Given the description of an element on the screen output the (x, y) to click on. 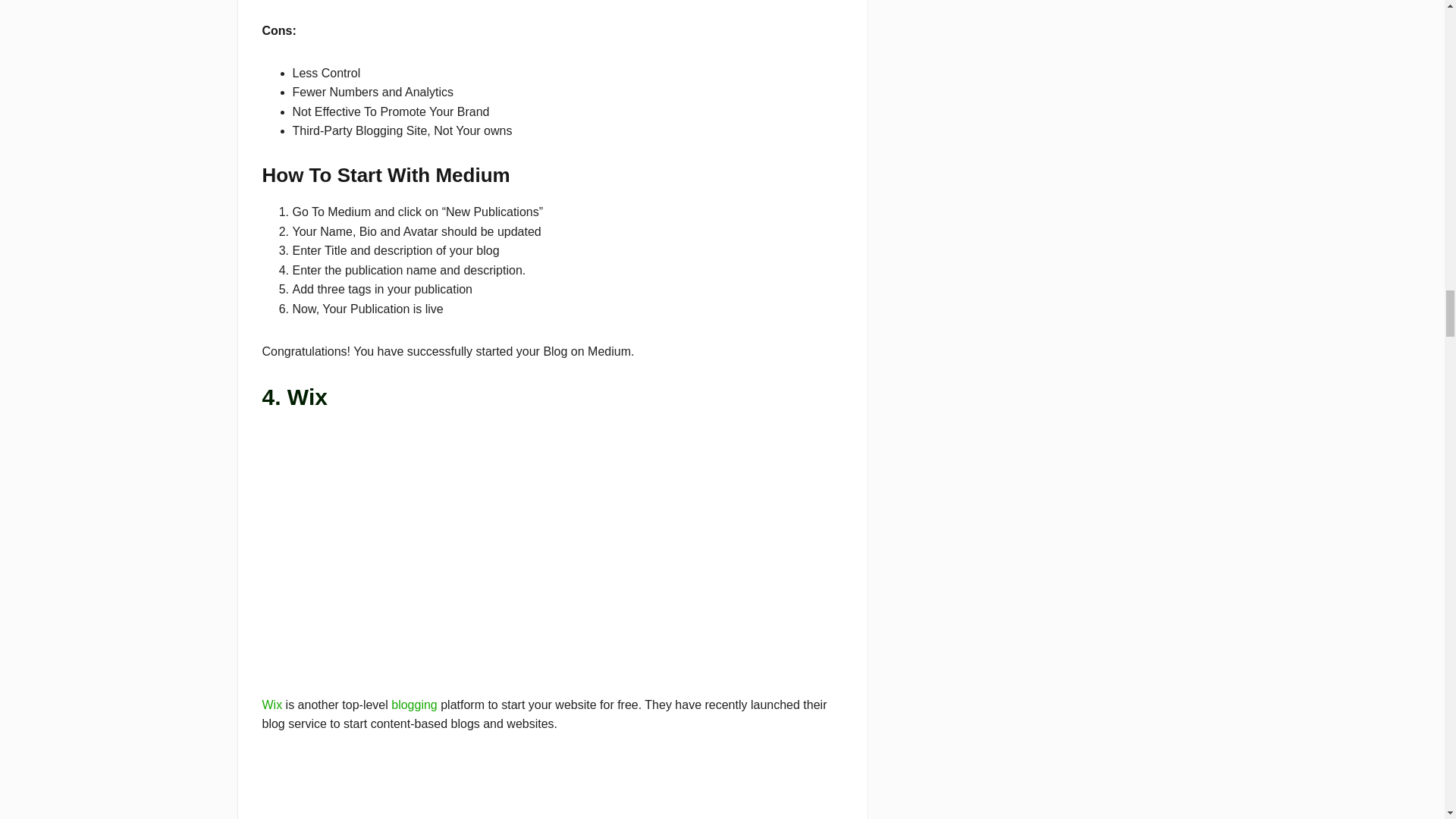
blogging (414, 704)
Wix (272, 704)
